Given the description of an element on the screen output the (x, y) to click on. 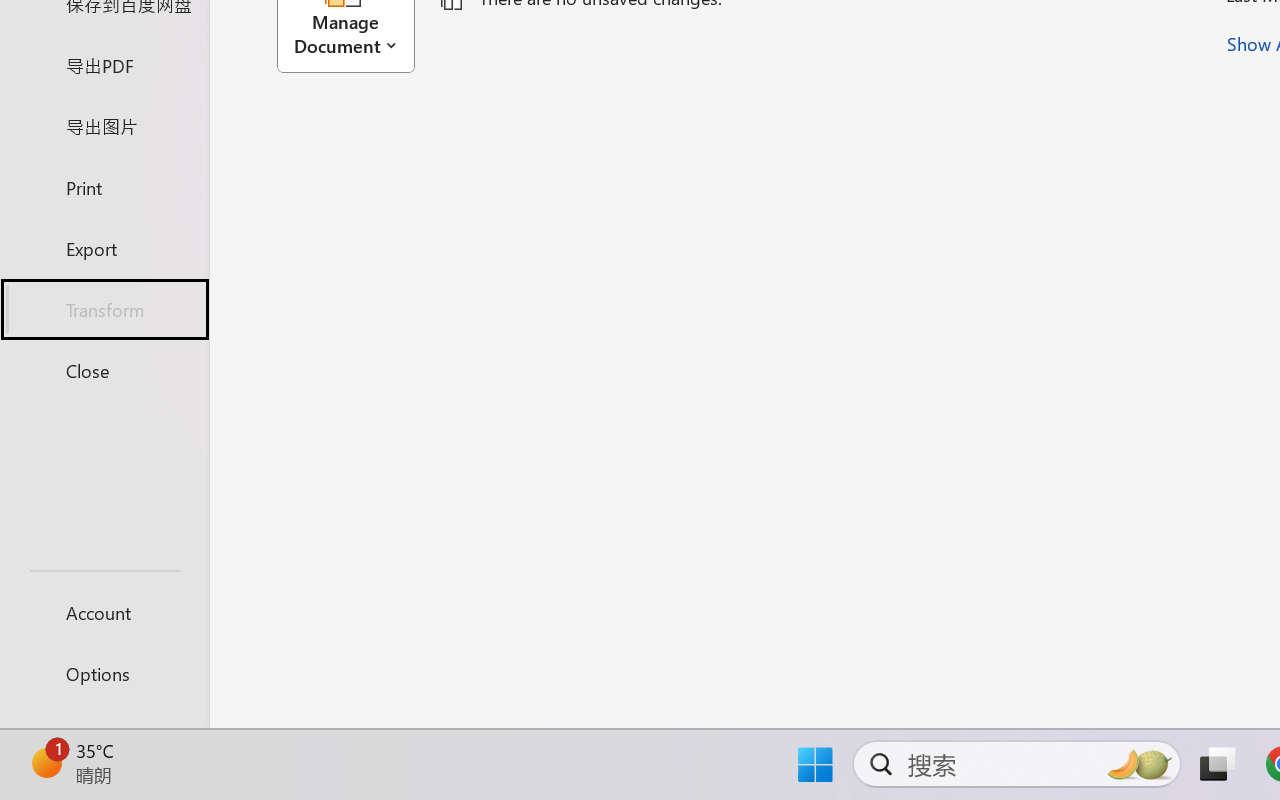
Transform (104, 309)
Options (104, 673)
Account (104, 612)
Print (104, 186)
Export (104, 248)
